Given the description of an element on the screen output the (x, y) to click on. 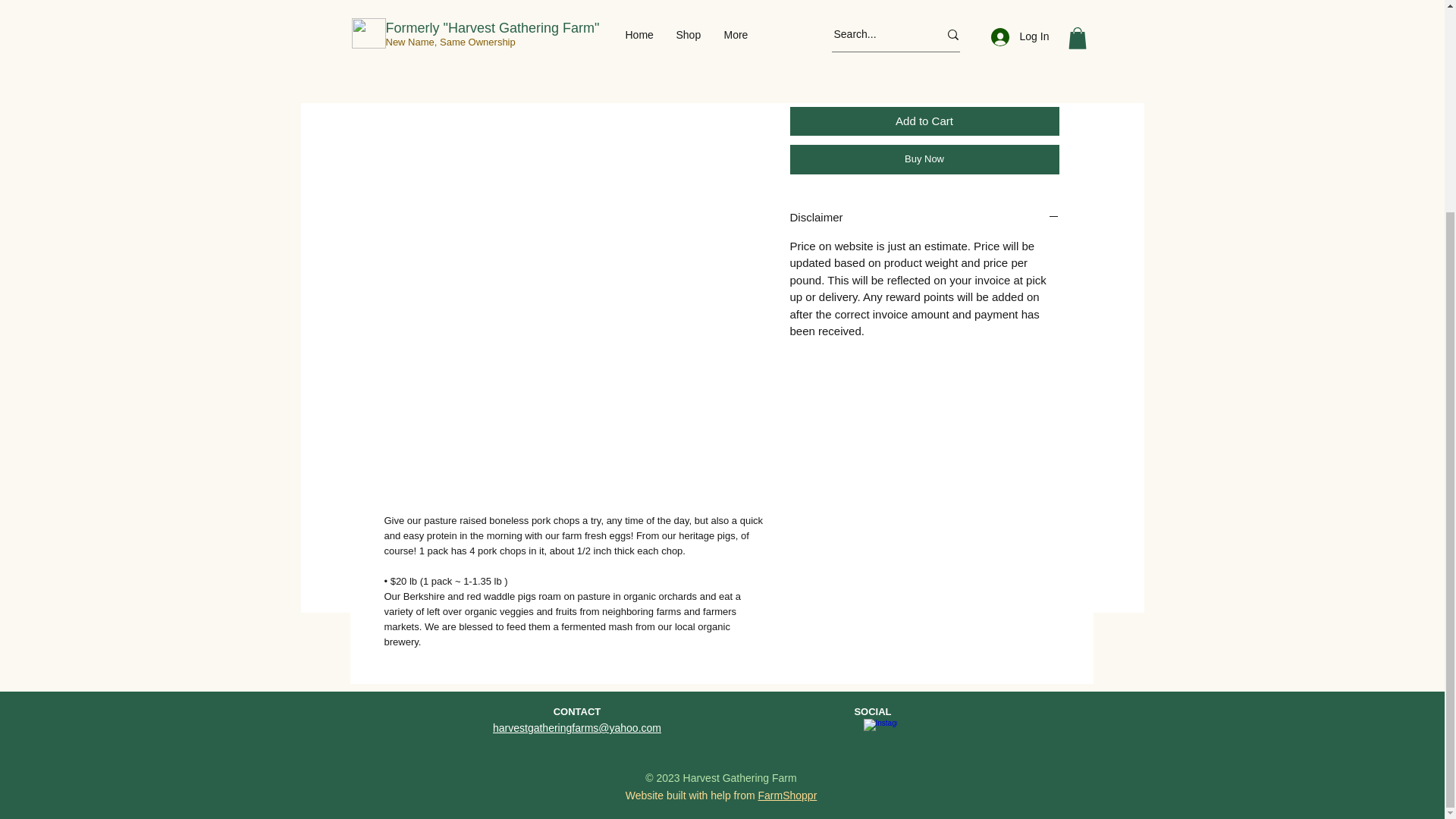
1 (818, 66)
Add to Cart (924, 121)
Buy Now (924, 158)
Disclaimer (924, 217)
FarmShoppr (787, 795)
